Given the description of an element on the screen output the (x, y) to click on. 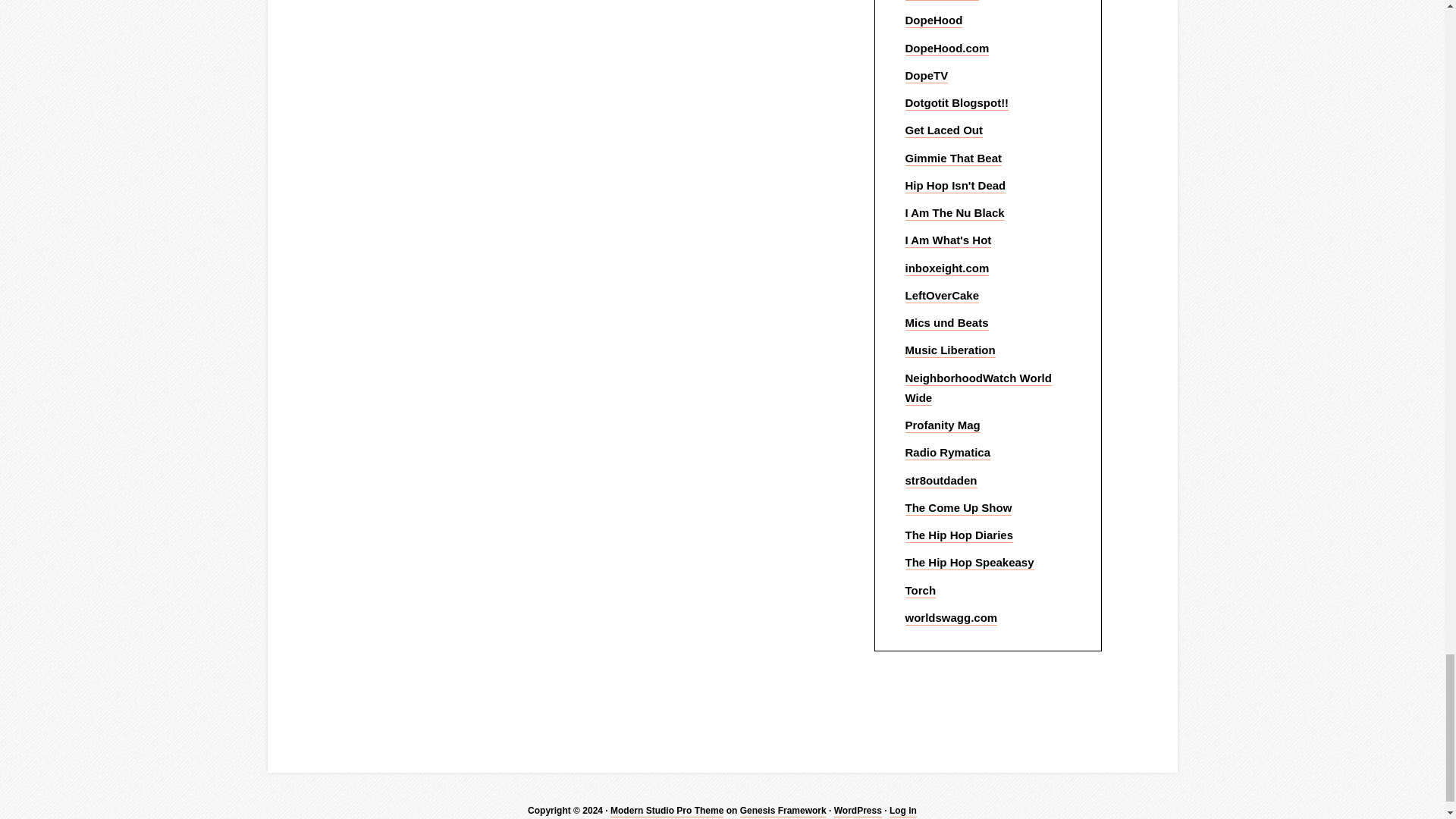
Dotgotit Blogspot!! (957, 103)
